Given the description of an element on the screen output the (x, y) to click on. 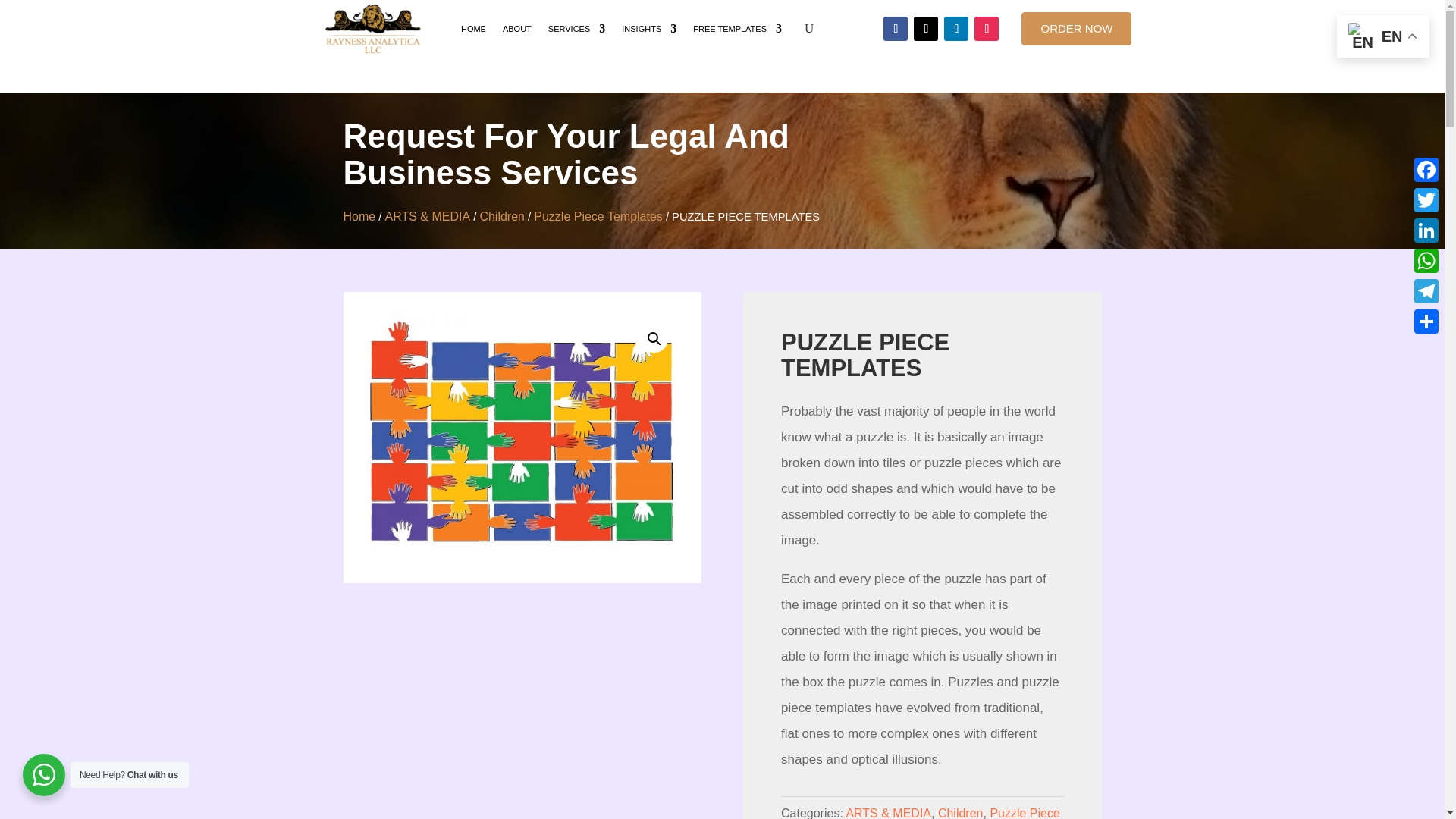
Follow on Facebook (895, 28)
SERVICES (576, 28)
Follow on Instagram (986, 28)
Follow on X (925, 28)
INSIGHTS (649, 28)
FREE TEMPLATES (737, 28)
Follow on LinkedIn (955, 28)
